Given the description of an element on the screen output the (x, y) to click on. 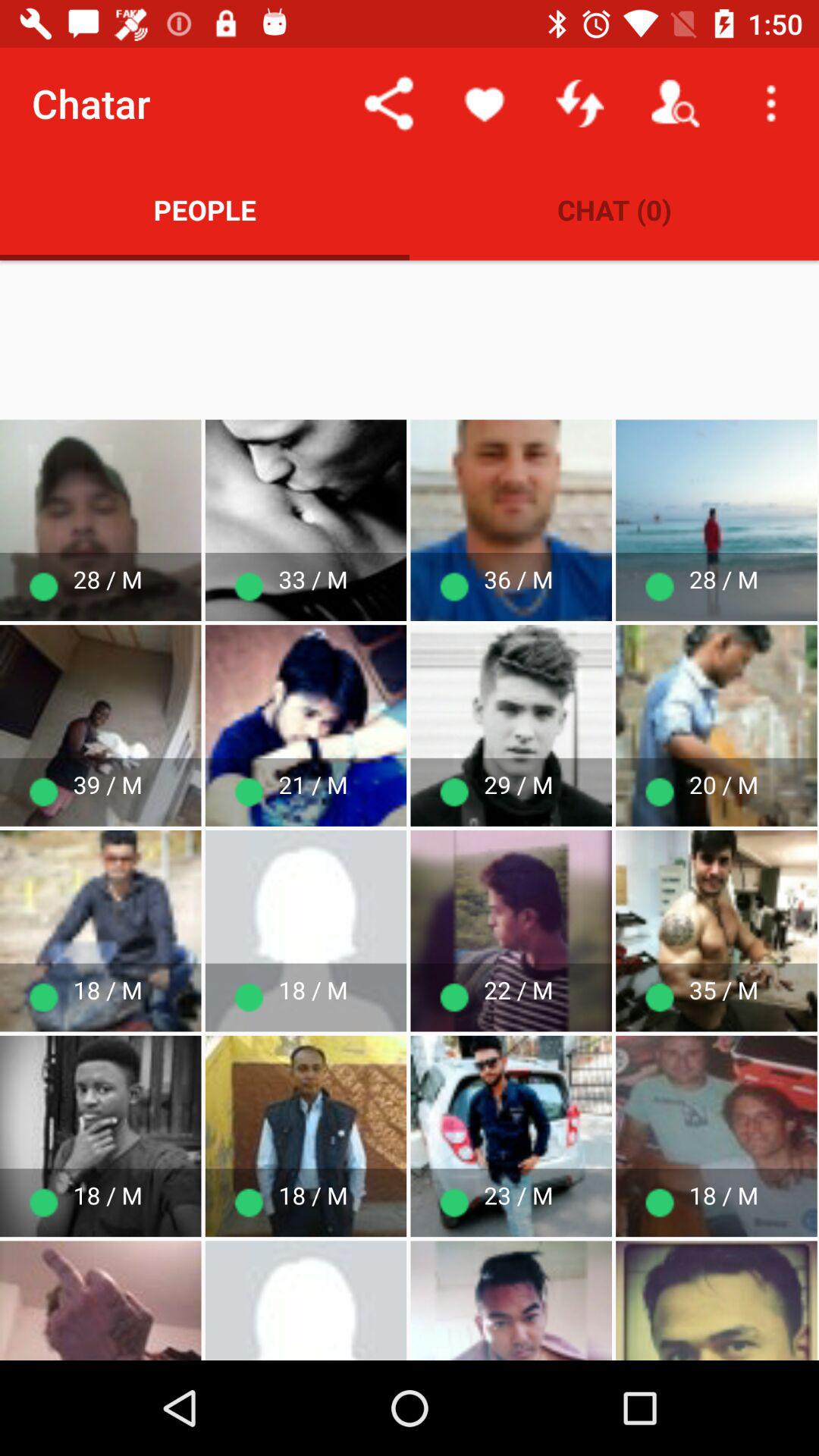
launch icon above the chat (0) app (484, 103)
